Given the description of an element on the screen output the (x, y) to click on. 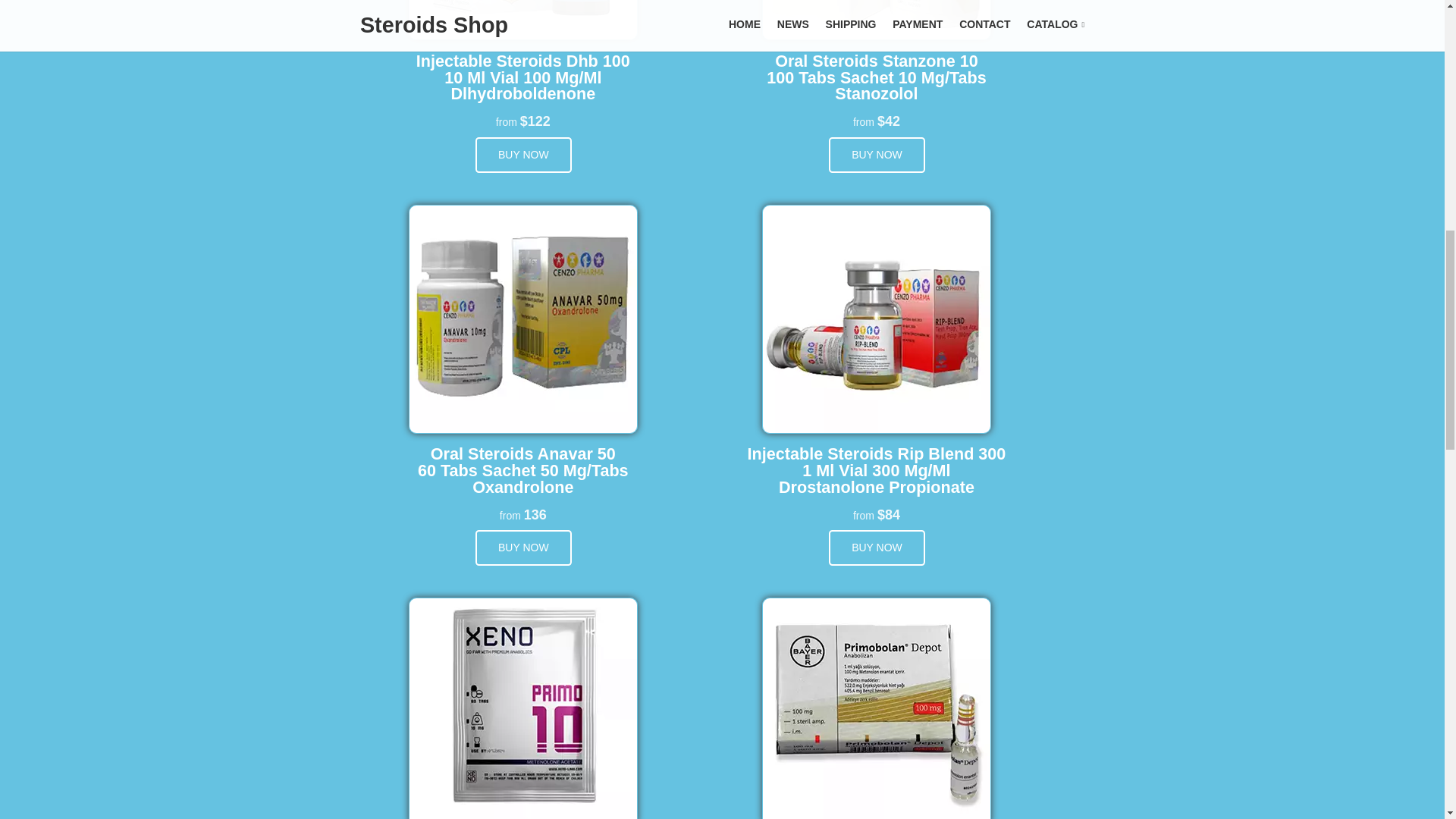
BUY NOW (524, 154)
BUY NOW (524, 547)
BUY NOW (876, 154)
BUY NOW (876, 547)
